Given the description of an element on the screen output the (x, y) to click on. 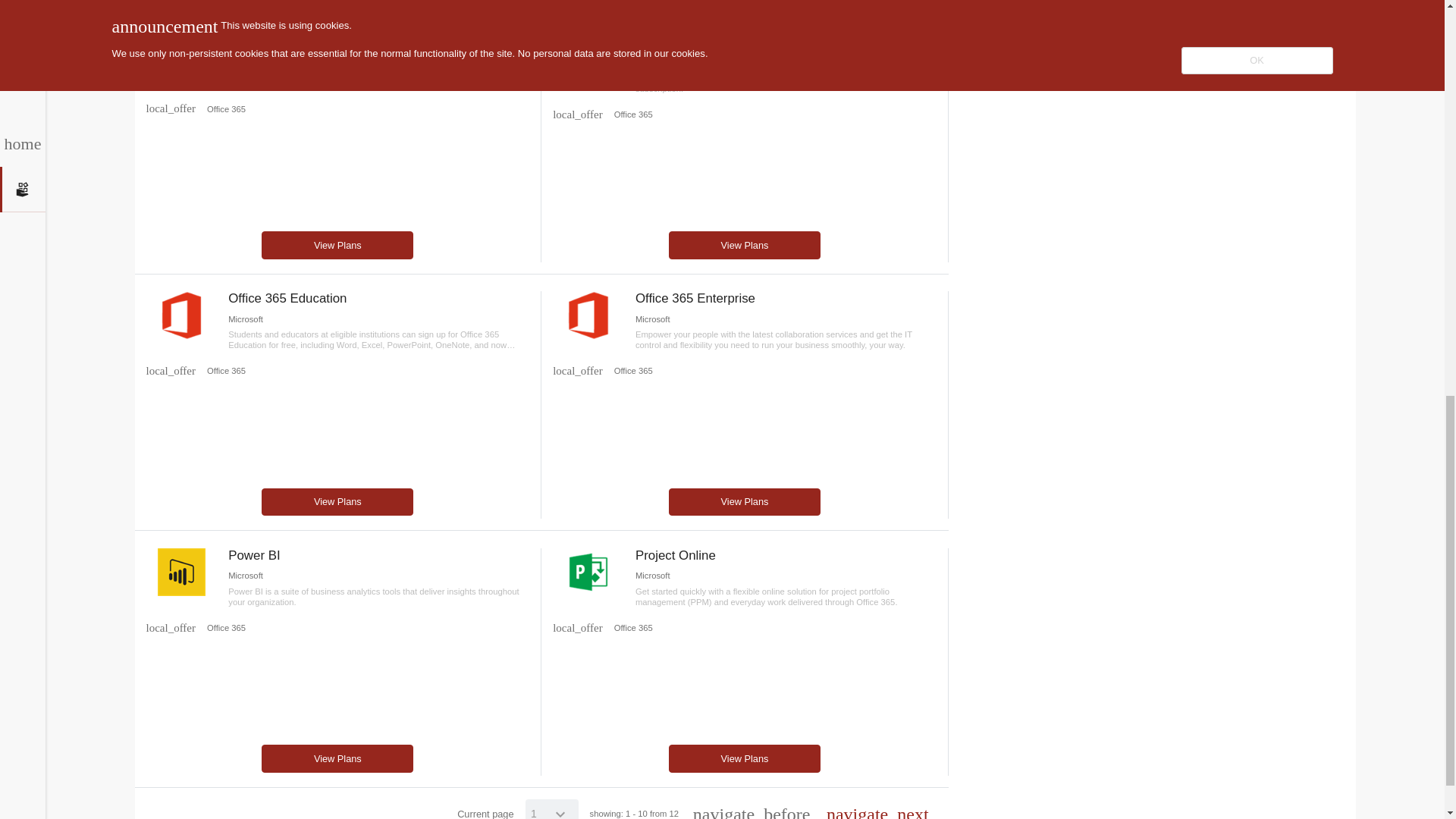
Office 365 Category (632, 114)
Category (170, 108)
Office 365 Category (226, 108)
Category (577, 370)
Category (577, 114)
Office 365 Category (226, 370)
Category (170, 370)
